Given the description of an element on the screen output the (x, y) to click on. 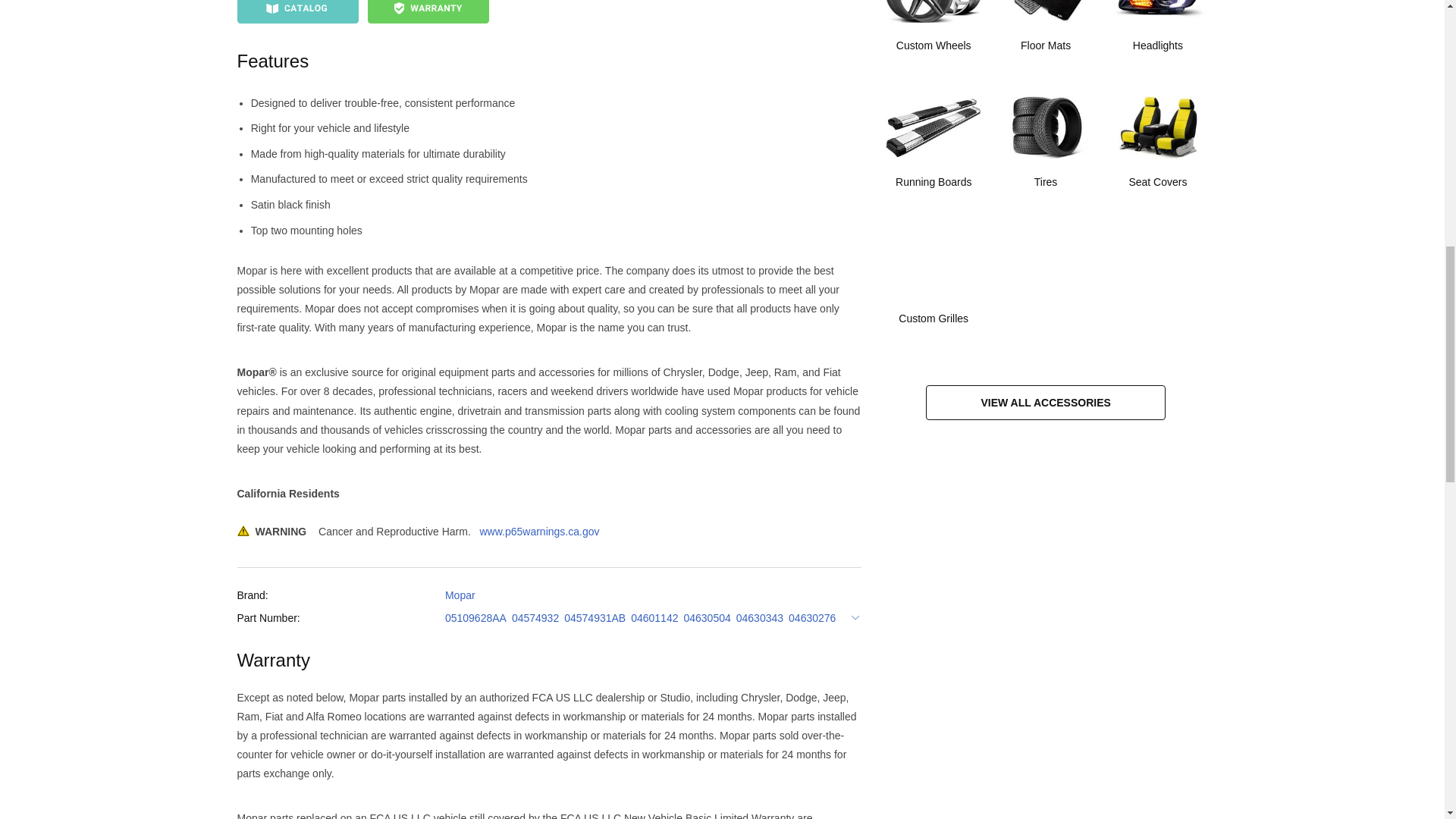
Warranty (426, 12)
05109628AA (475, 618)
Catalog (296, 12)
04574932 (535, 618)
04574931AB (595, 618)
04601142 (654, 618)
Mopar (460, 594)
04630504 (706, 618)
